Given the description of an element on the screen output the (x, y) to click on. 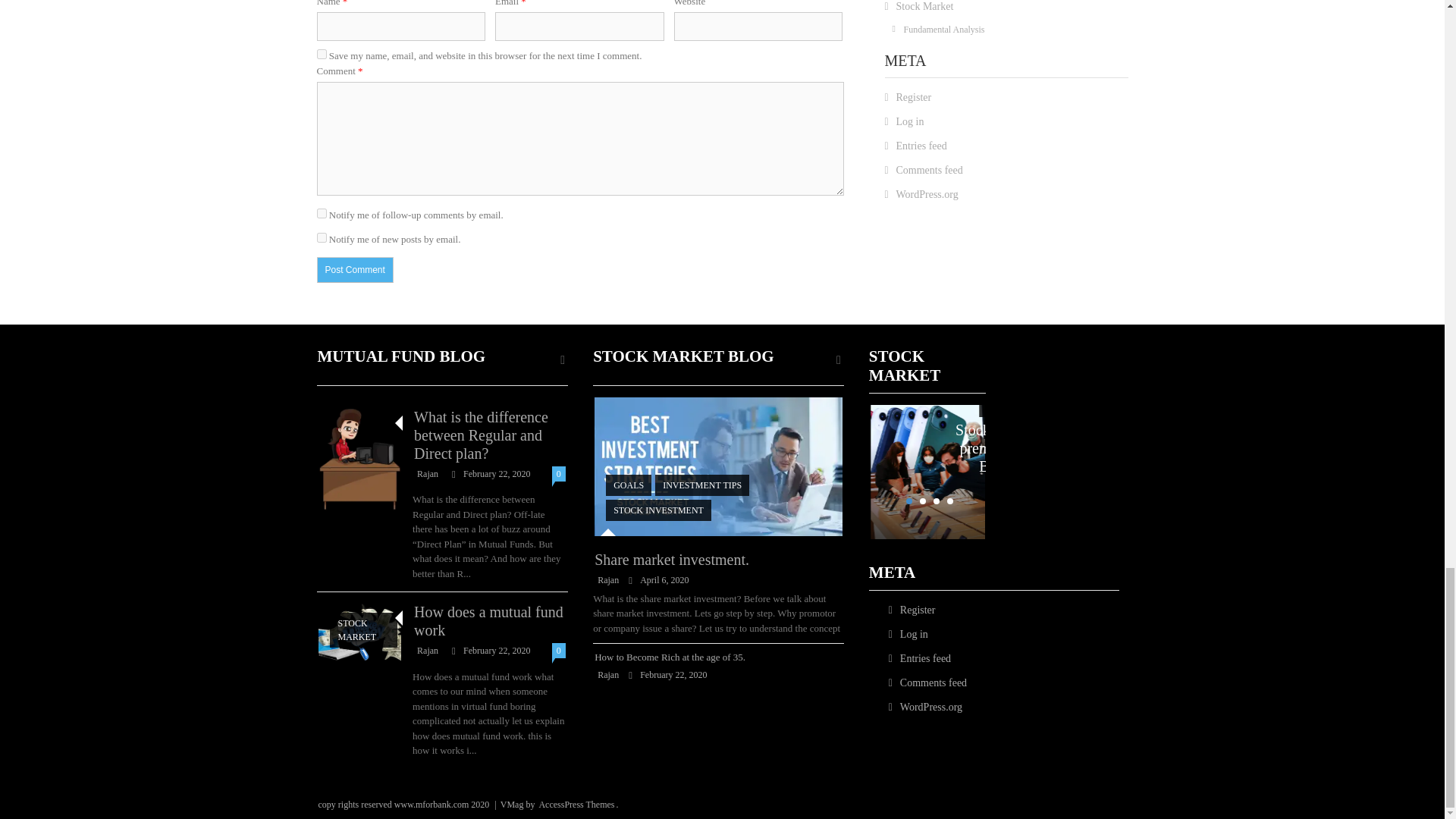
subscribe (321, 237)
subscribe (321, 213)
Post Comment (355, 269)
yes (321, 53)
